Given the description of an element on the screen output the (x, y) to click on. 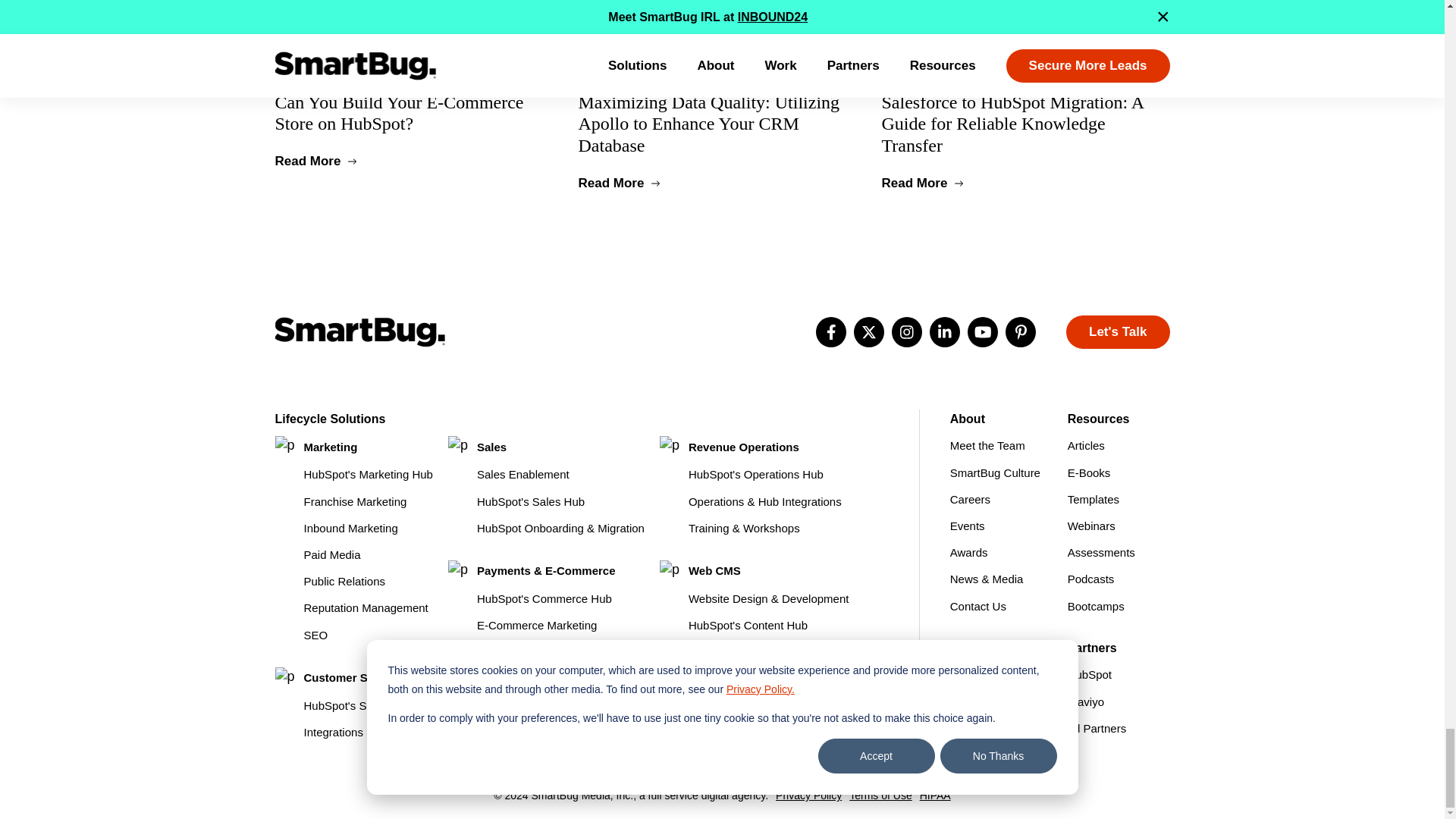
Let's Talk (1117, 331)
